Given the description of an element on the screen output the (x, y) to click on. 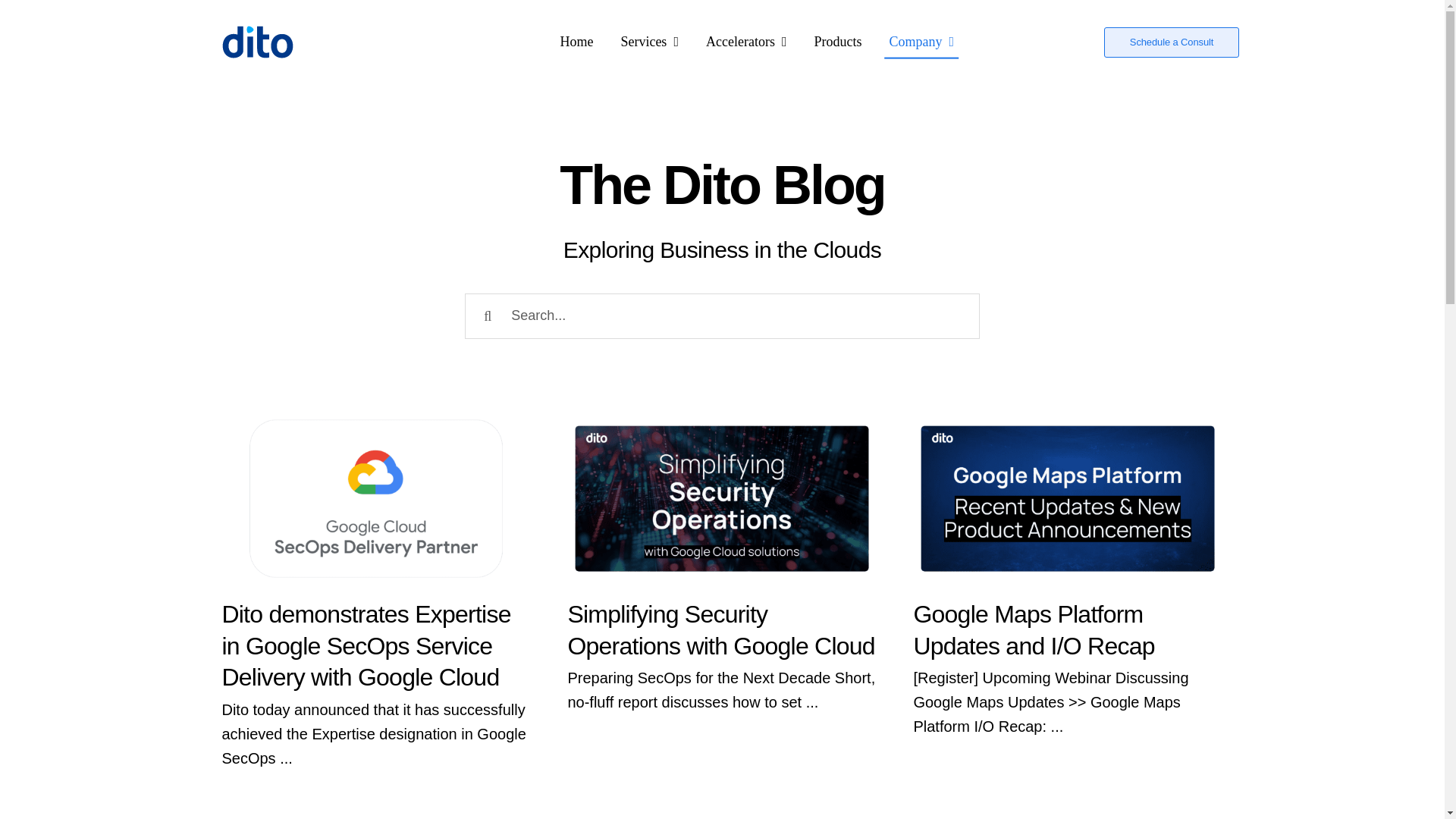
Services (648, 42)
Home (575, 42)
Company (920, 42)
Accelerators (746, 42)
Products (837, 42)
